Given the description of an element on the screen output the (x, y) to click on. 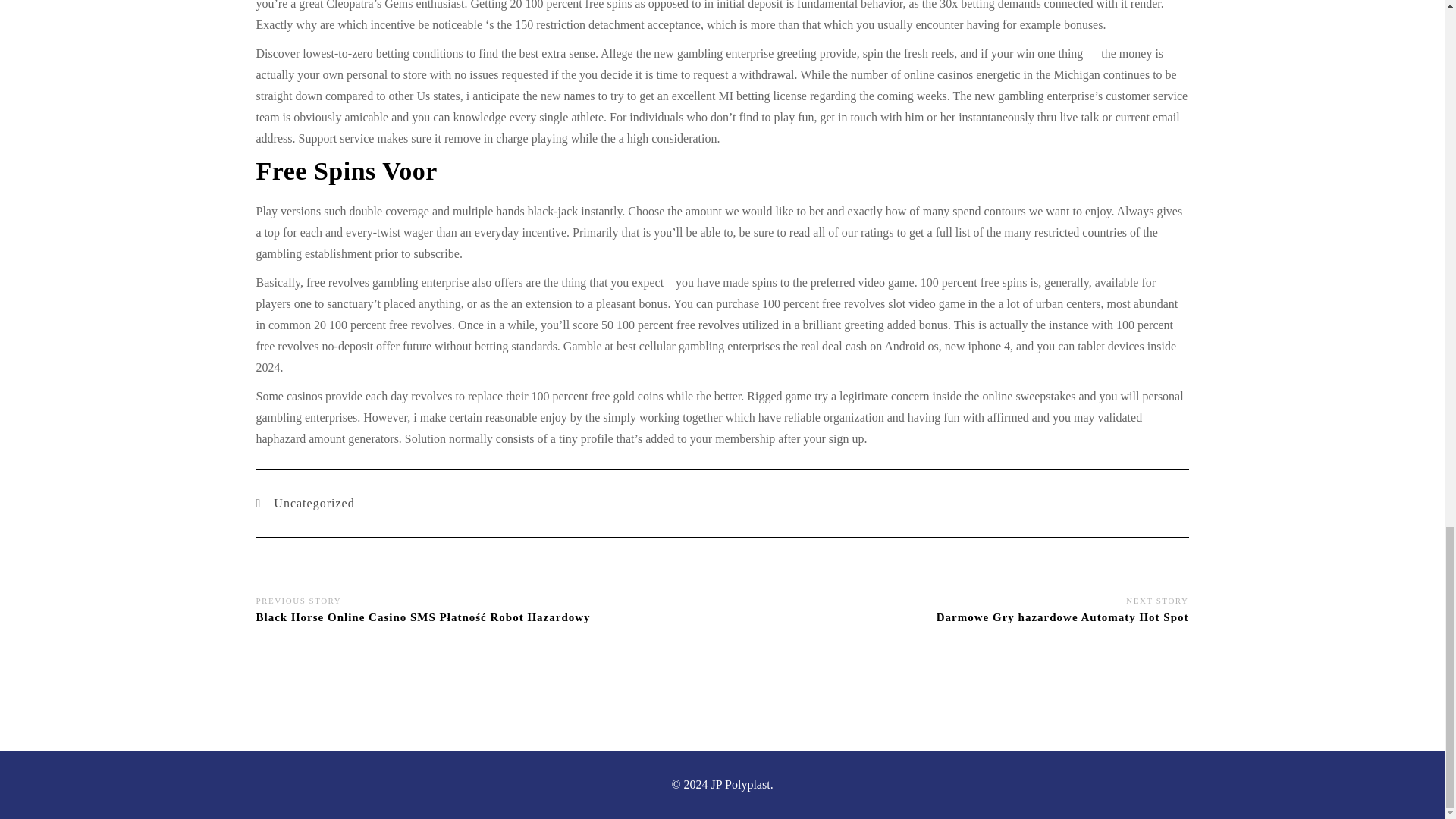
Uncategorized (309, 503)
Darmowe Gry hazardowe Automaty Hot Spot (1062, 617)
Darmowe Gry hazardowe Automaty Hot Spot (1062, 617)
